Given the description of an element on the screen output the (x, y) to click on. 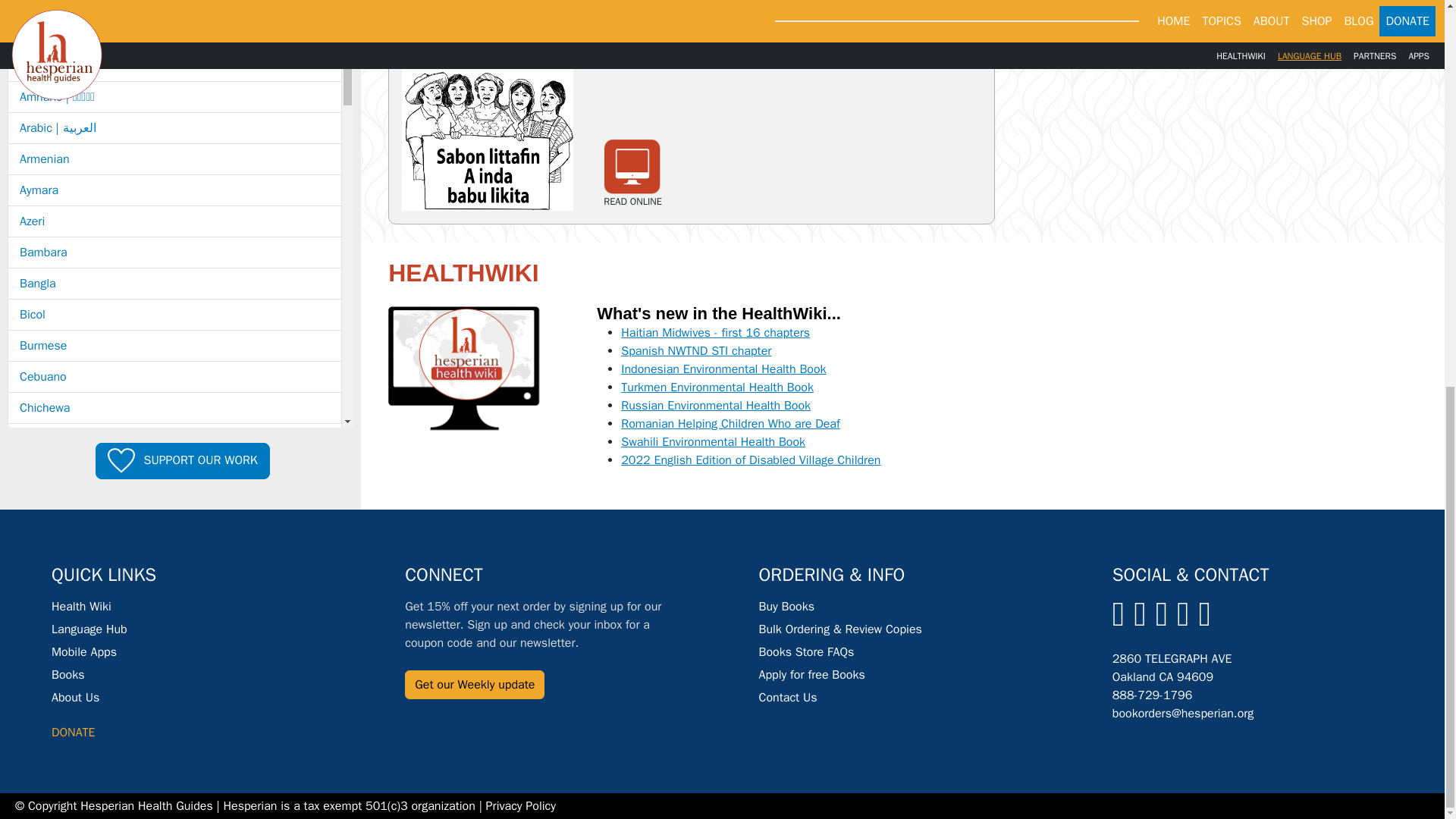
Armenian (174, 159)
English (174, 562)
Albanian (174, 65)
Croatian (174, 501)
Azeri (174, 221)
Cebuano (174, 376)
Farsi (174, 625)
Burmese (174, 345)
Bambara (174, 252)
Esperanto (174, 594)
